Given the description of an element on the screen output the (x, y) to click on. 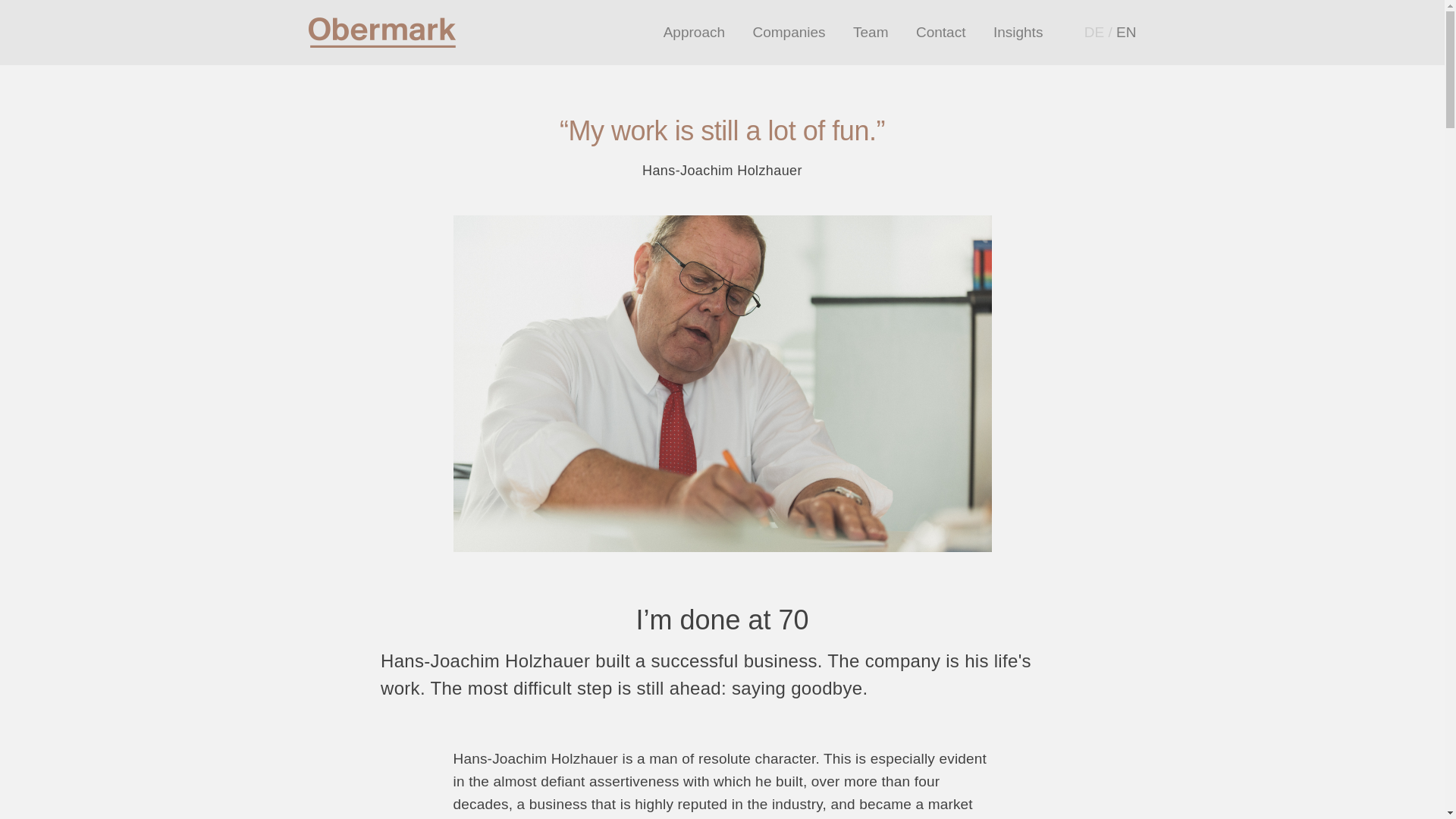
Insights (1017, 32)
DE (1093, 32)
Companies (788, 32)
Contact (940, 32)
EN (1125, 32)
Team (870, 32)
Approach (694, 32)
